Given the description of an element on the screen output the (x, y) to click on. 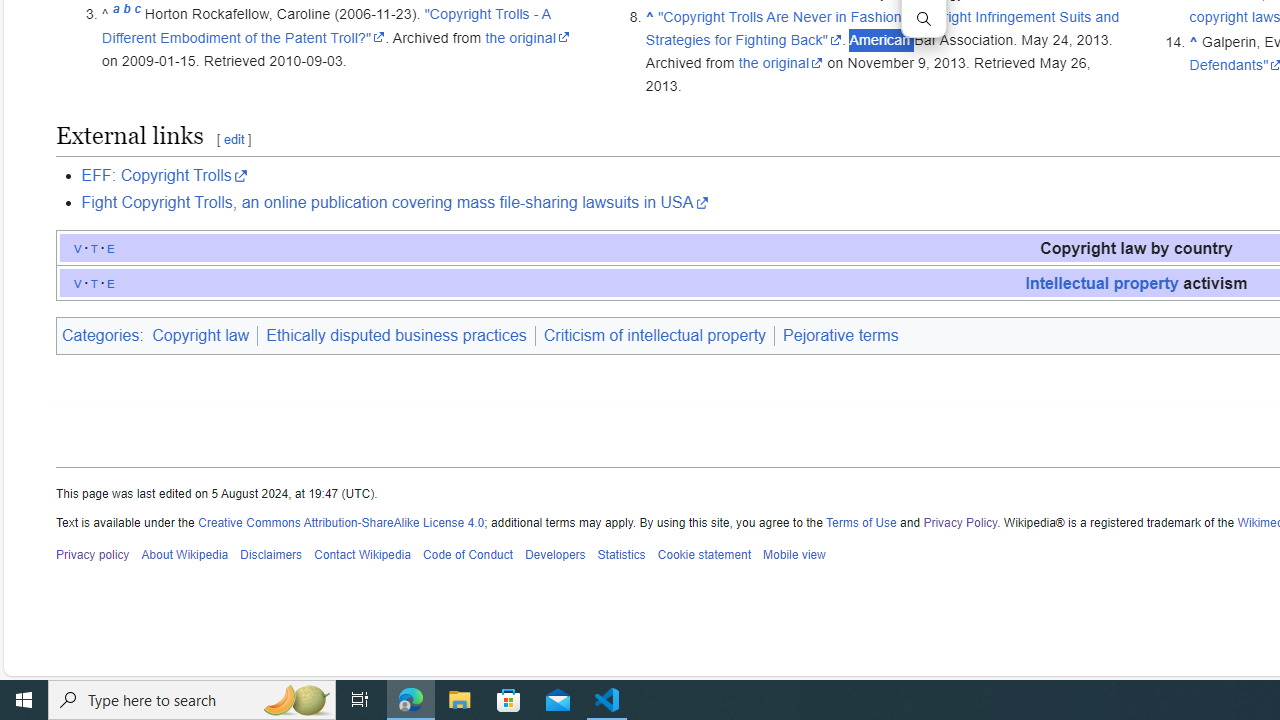
Code of Conduct (467, 555)
Contact Wikipedia (361, 555)
Cookie statement (703, 555)
t (93, 282)
About Wikipedia (184, 555)
Cookie statement (703, 555)
Privacy Policy (960, 521)
Creative Commons Attribution-ShareAlike License 4.0 (341, 521)
Privacy policy (93, 555)
Jump up to: a (116, 14)
Intellectual property (1101, 282)
Privacy policy (93, 555)
